Given the description of an element on the screen output the (x, y) to click on. 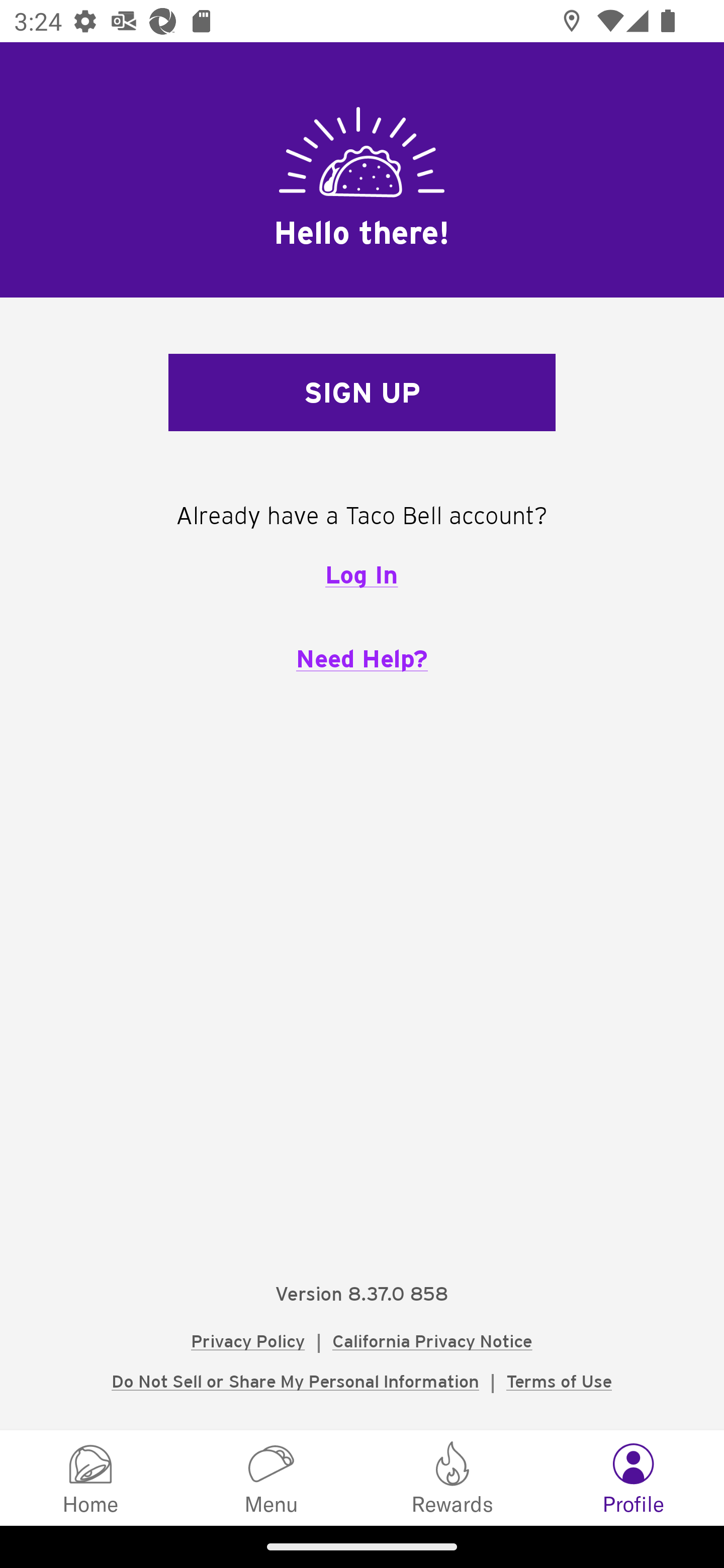
SIGN UP (361, 392)
Log In (361, 574)
Need Help? (361, 658)
Privacy Policy (248, 1341)
California Privacy Notice (432, 1341)
Do Not Sell or Share My Personal Information (295, 1381)
Terms of Use (558, 1381)
Home (90, 1476)
Menu (271, 1476)
Rewards (452, 1476)
My Info Profile (633, 1476)
